Given the description of an element on the screen output the (x, y) to click on. 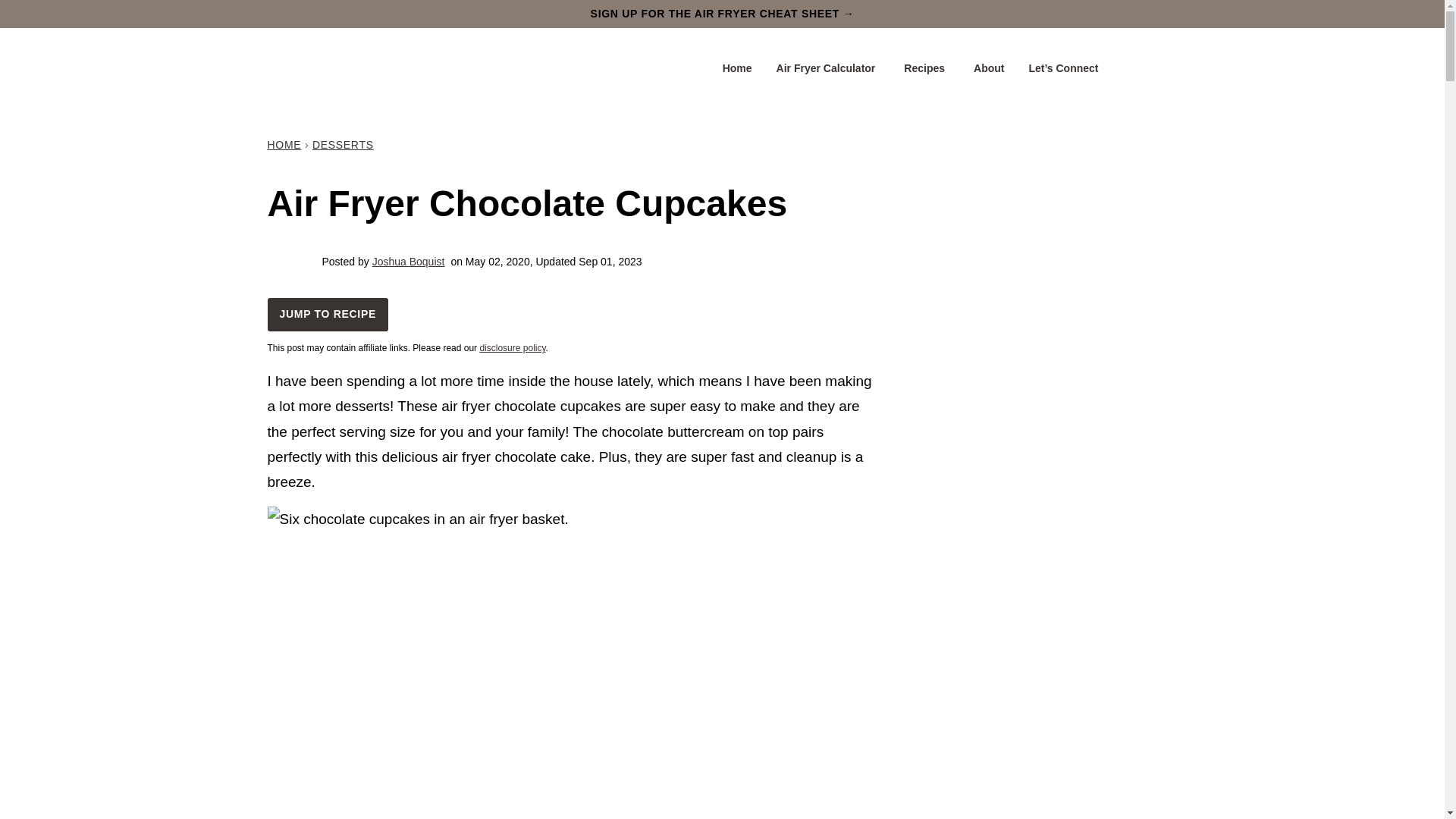
Joshua Boquist (408, 261)
Recipes (925, 68)
JUMP TO RECIPE (327, 314)
About (988, 68)
disclosure policy (511, 347)
DESSERTS (343, 144)
Home (737, 68)
HOME (283, 144)
My Favorites (1125, 68)
Air Fryer Calculator (828, 68)
